Given the description of an element on the screen output the (x, y) to click on. 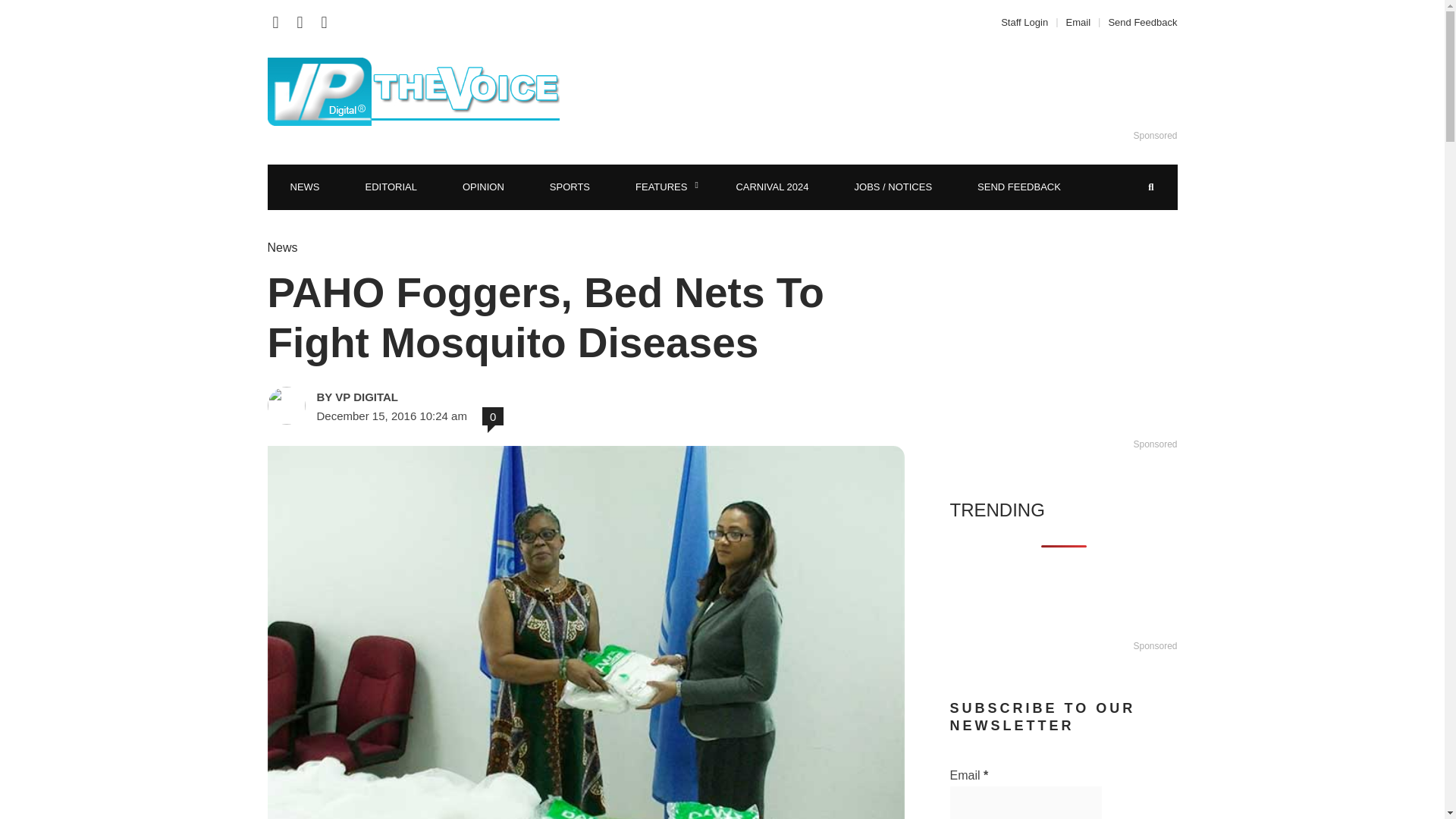
FEATURES (662, 186)
Email (1078, 21)
SPORTS (569, 186)
Staff Login (1028, 21)
View all posts by VP Digital (422, 396)
NEWS (304, 186)
Send Feedback (1138, 21)
OPINION (483, 186)
CARNIVAL 2024 (772, 186)
EDITORIAL (390, 186)
